Given the description of an element on the screen output the (x, y) to click on. 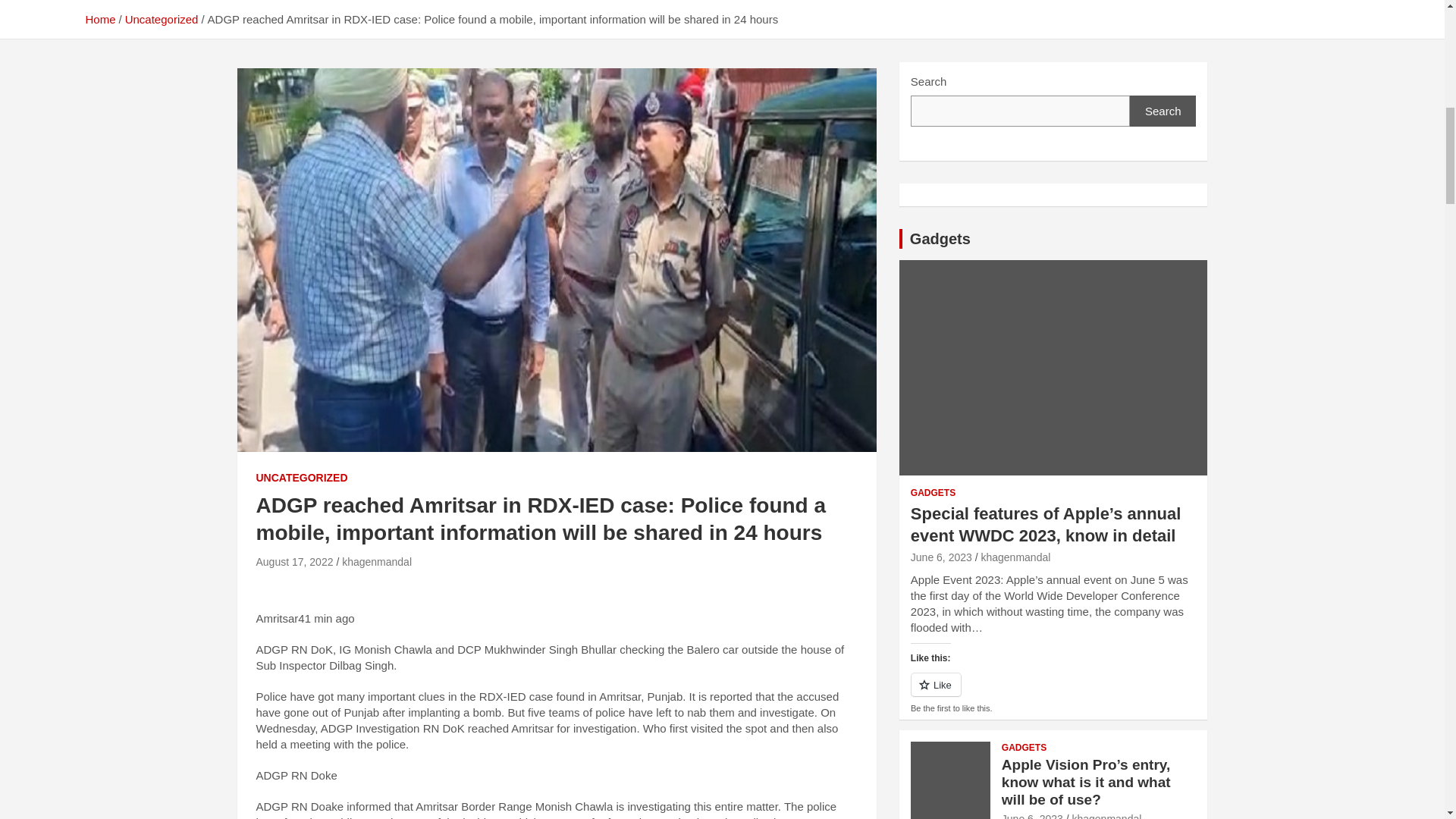
Like or Reblog (1053, 693)
